Given the description of an element on the screen output the (x, y) to click on. 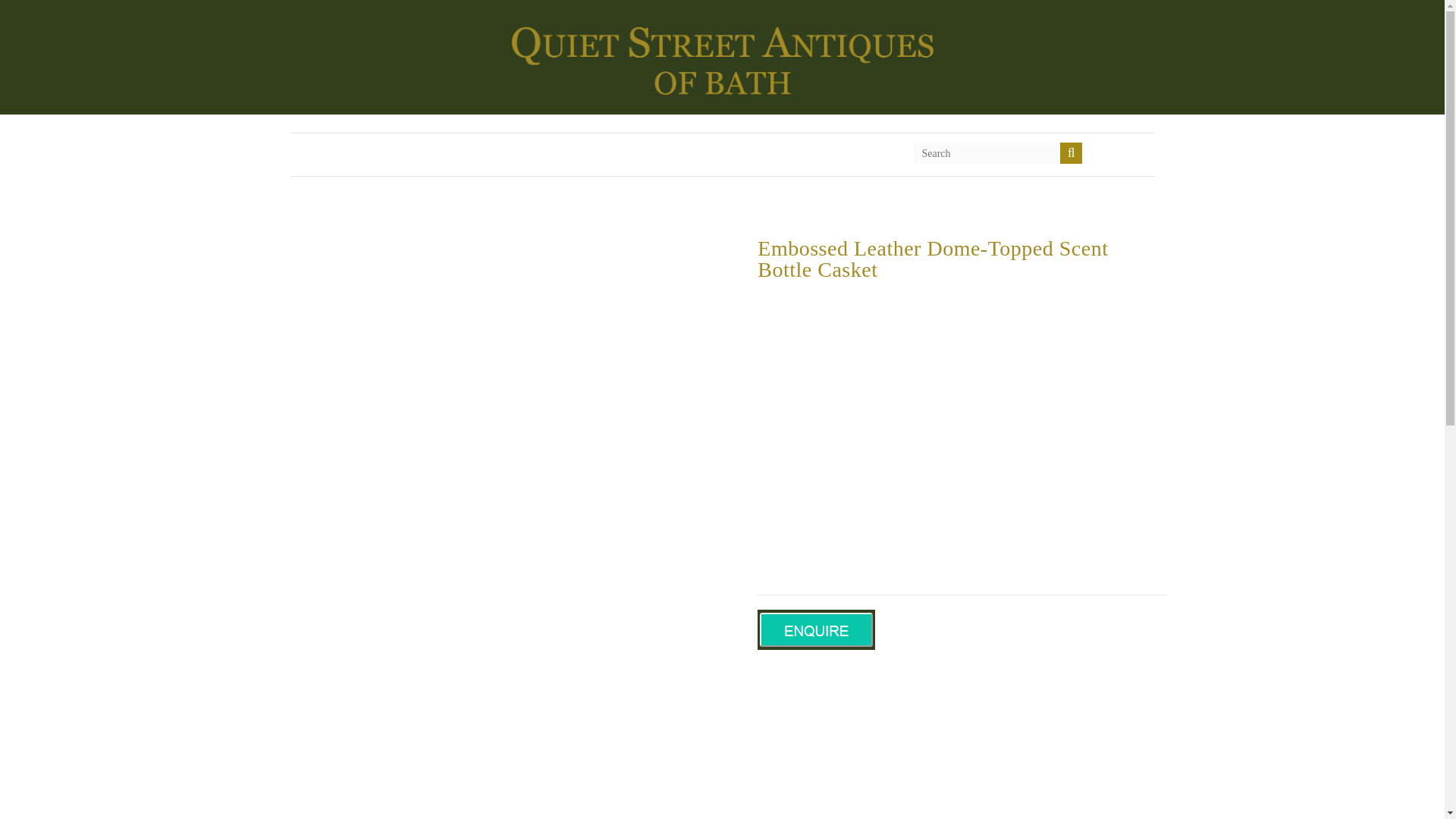
HOME (379, 154)
ALL STOCK (468, 154)
CONTACT US (576, 154)
